Given the description of an element on the screen output the (x, y) to click on. 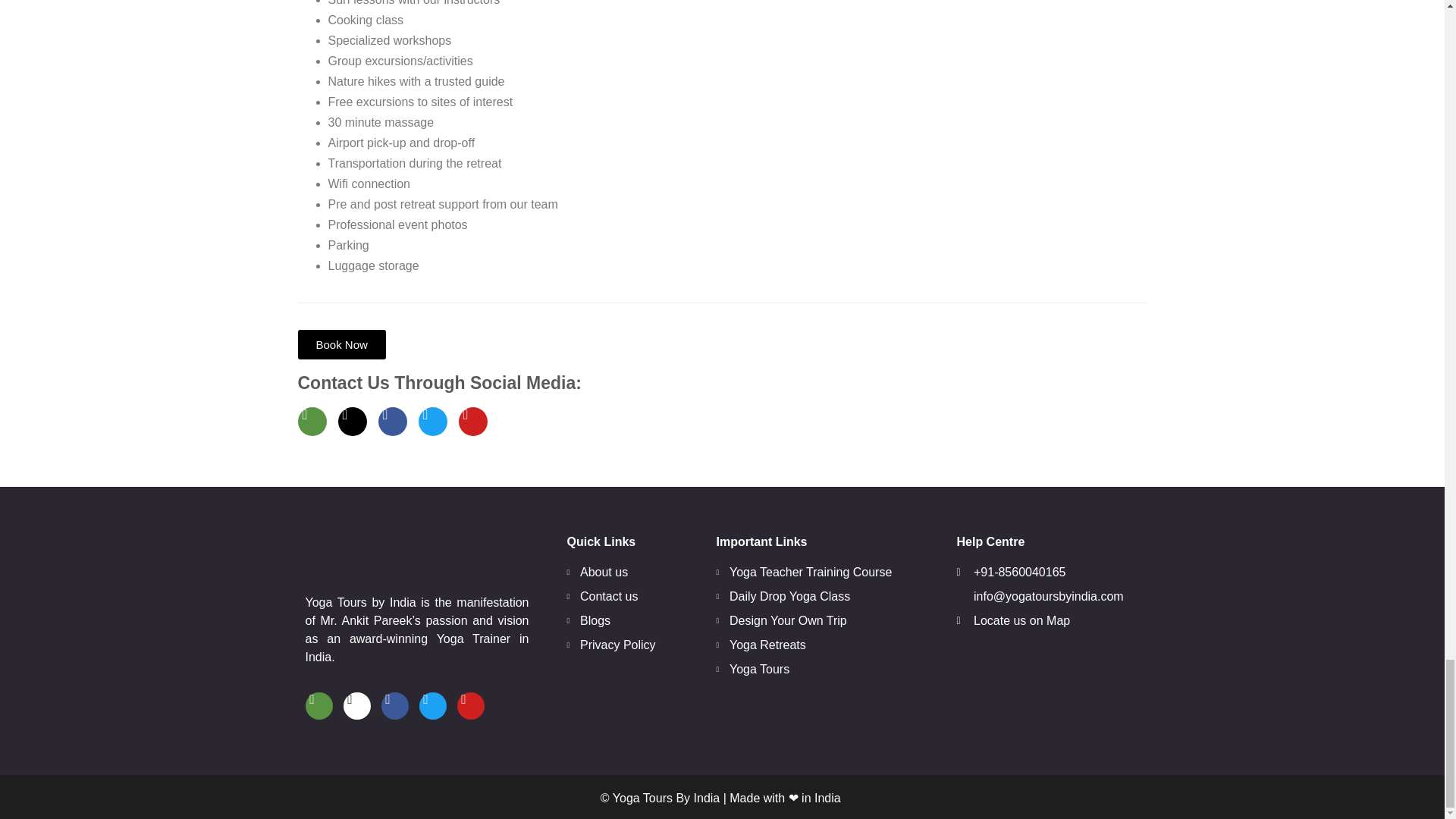
Daily Drop Yoga Class (821, 597)
Privacy Policy (630, 645)
About us (630, 572)
Book Now (341, 344)
Yoga Teacher Training Course (821, 572)
Contact us (630, 597)
Blogs (630, 620)
